Given the description of an element on the screen output the (x, y) to click on. 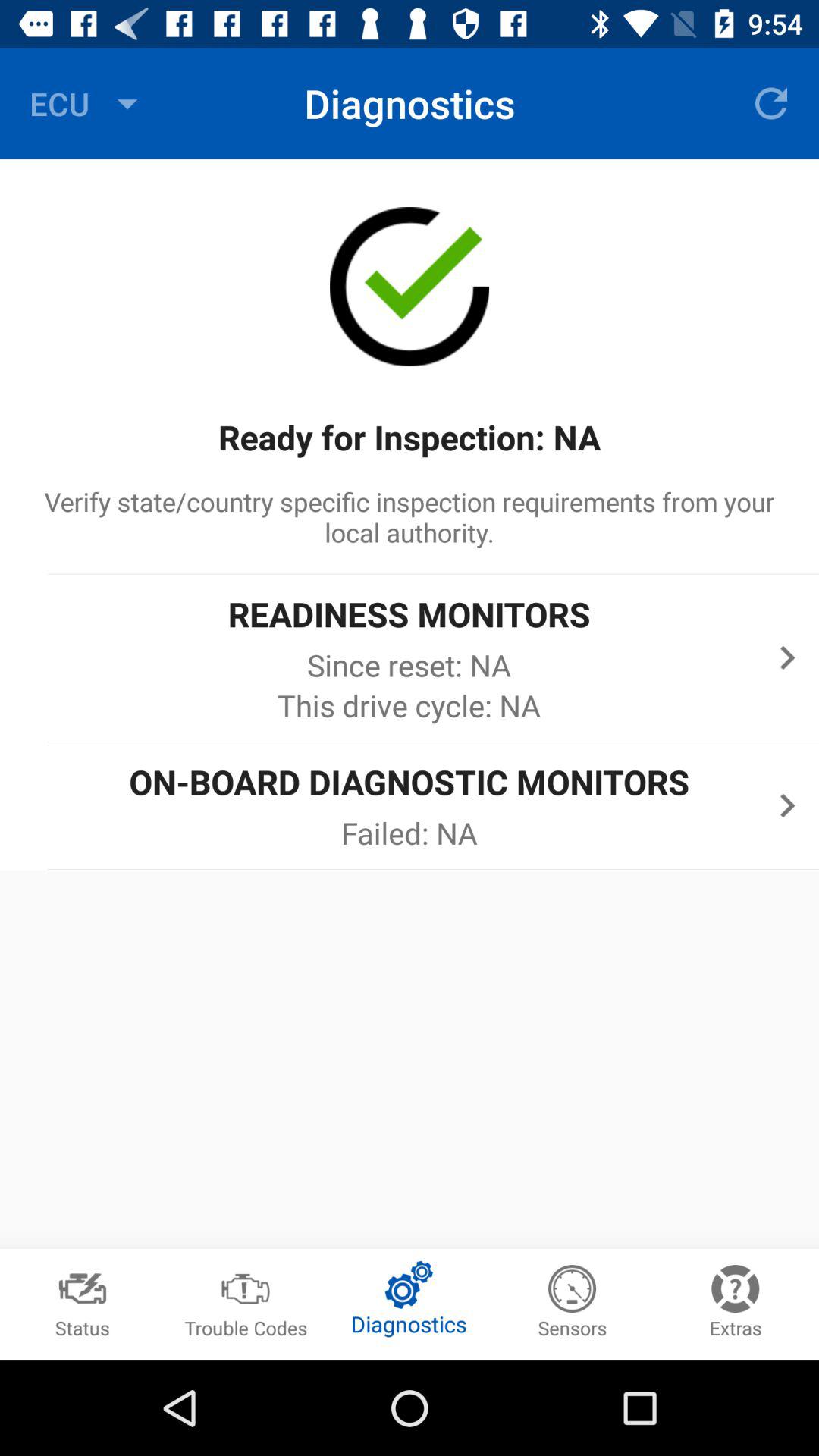
select icon next to the diagnostics icon (87, 103)
